Given the description of an element on the screen output the (x, y) to click on. 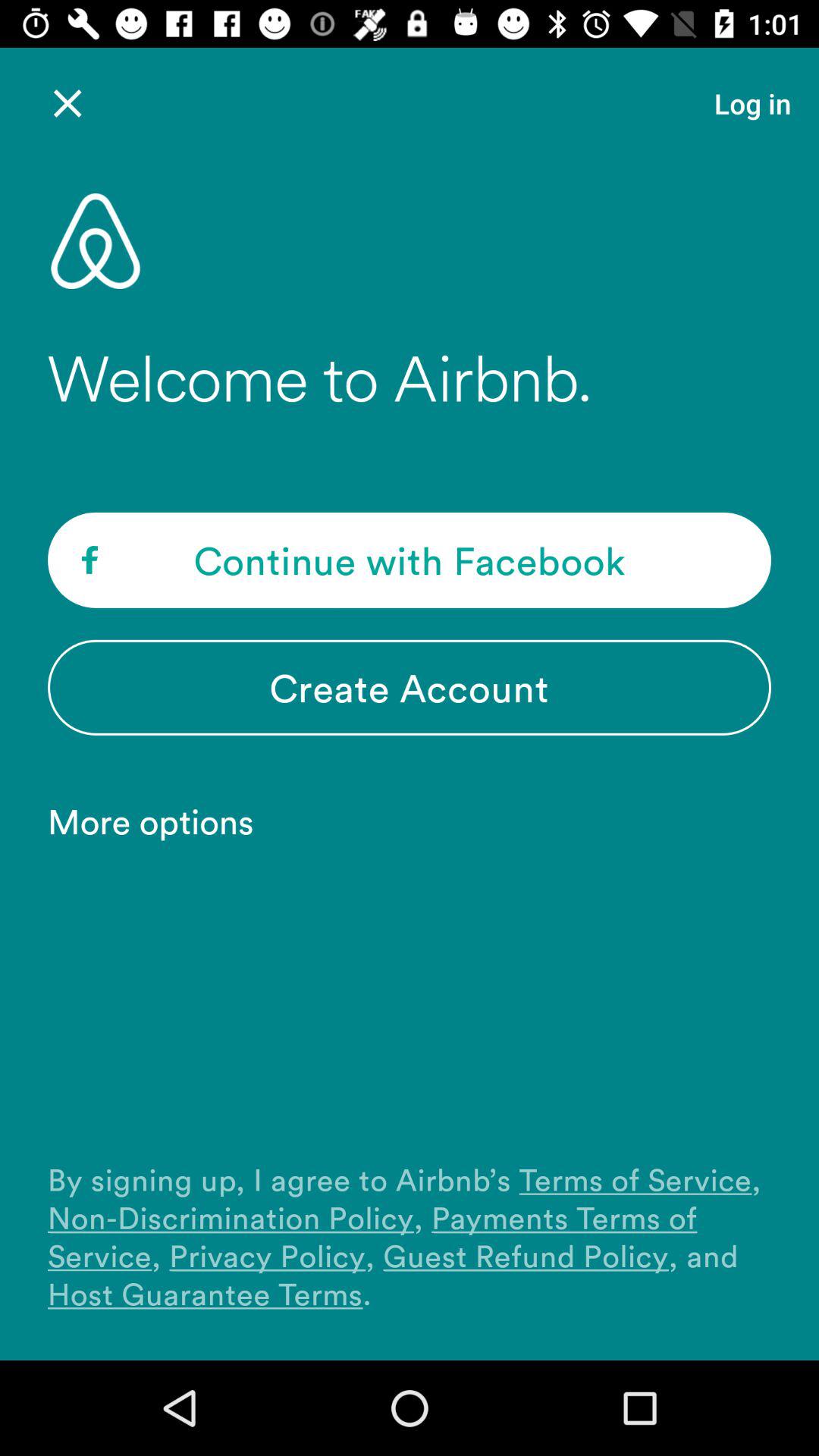
flip until the by signing up item (409, 1235)
